Given the description of an element on the screen output the (x, y) to click on. 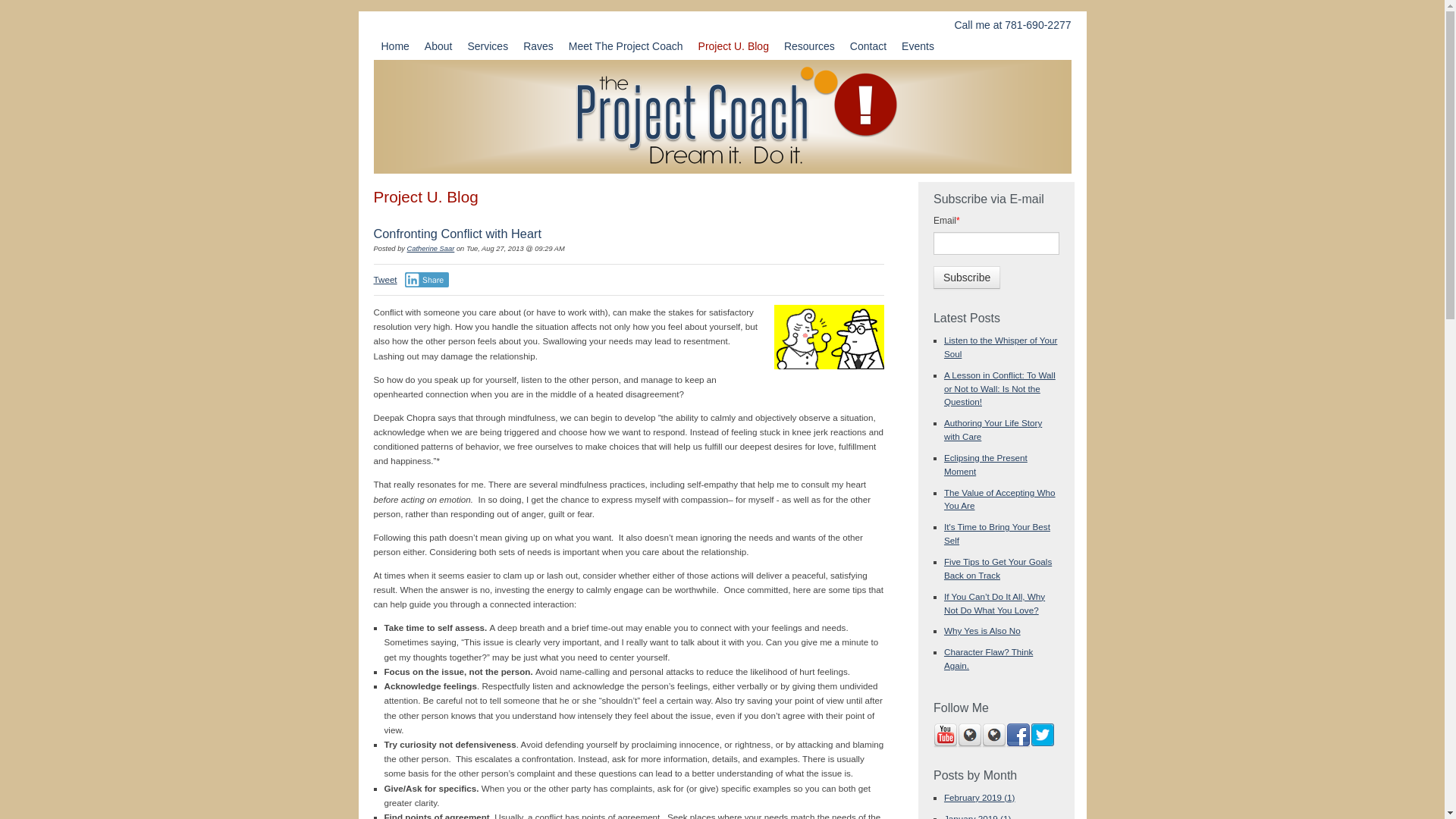
Resources (809, 46)
Services (487, 46)
Events (917, 46)
Follow us on YouTube (945, 735)
Contact (868, 46)
Follow us on Twitter (1042, 735)
Share (426, 279)
About (438, 46)
Tweet (384, 279)
Confronting Conflict with Heart (456, 233)
Catherine Saar (430, 248)
Meet The Project Coach (625, 46)
Project U. Blog (733, 46)
Subscribe (966, 277)
Follow us on Facebook (1018, 735)
